Given the description of an element on the screen output the (x, y) to click on. 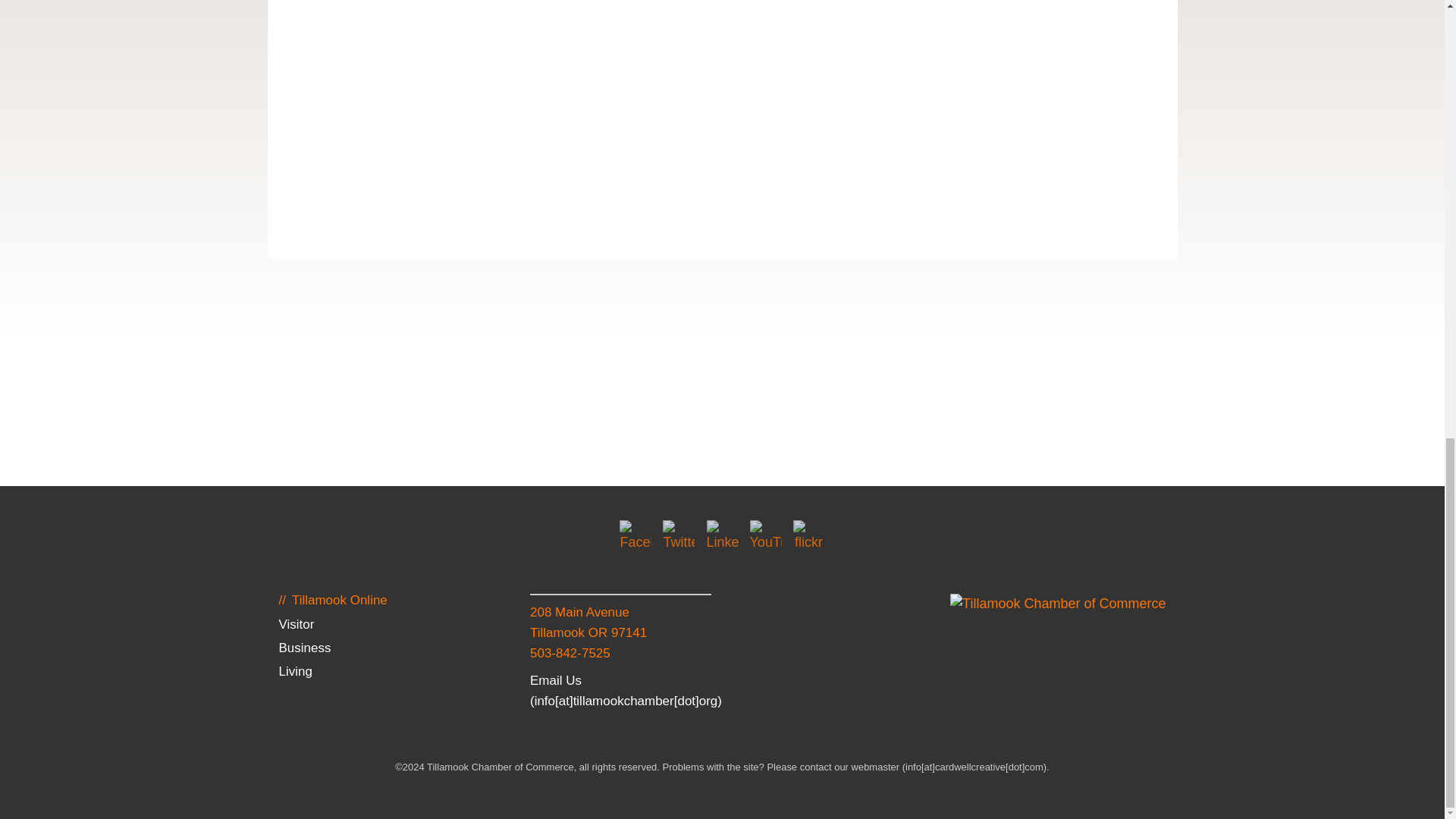
Living (294, 671)
flickr (809, 536)
Twitter (678, 536)
Business (304, 647)
YouTube (765, 536)
Visitor (296, 624)
LinkedIn (722, 536)
Tillamook Chamber of Commerce (1058, 604)
Facebook (635, 536)
